Given the description of an element on the screen output the (x, y) to click on. 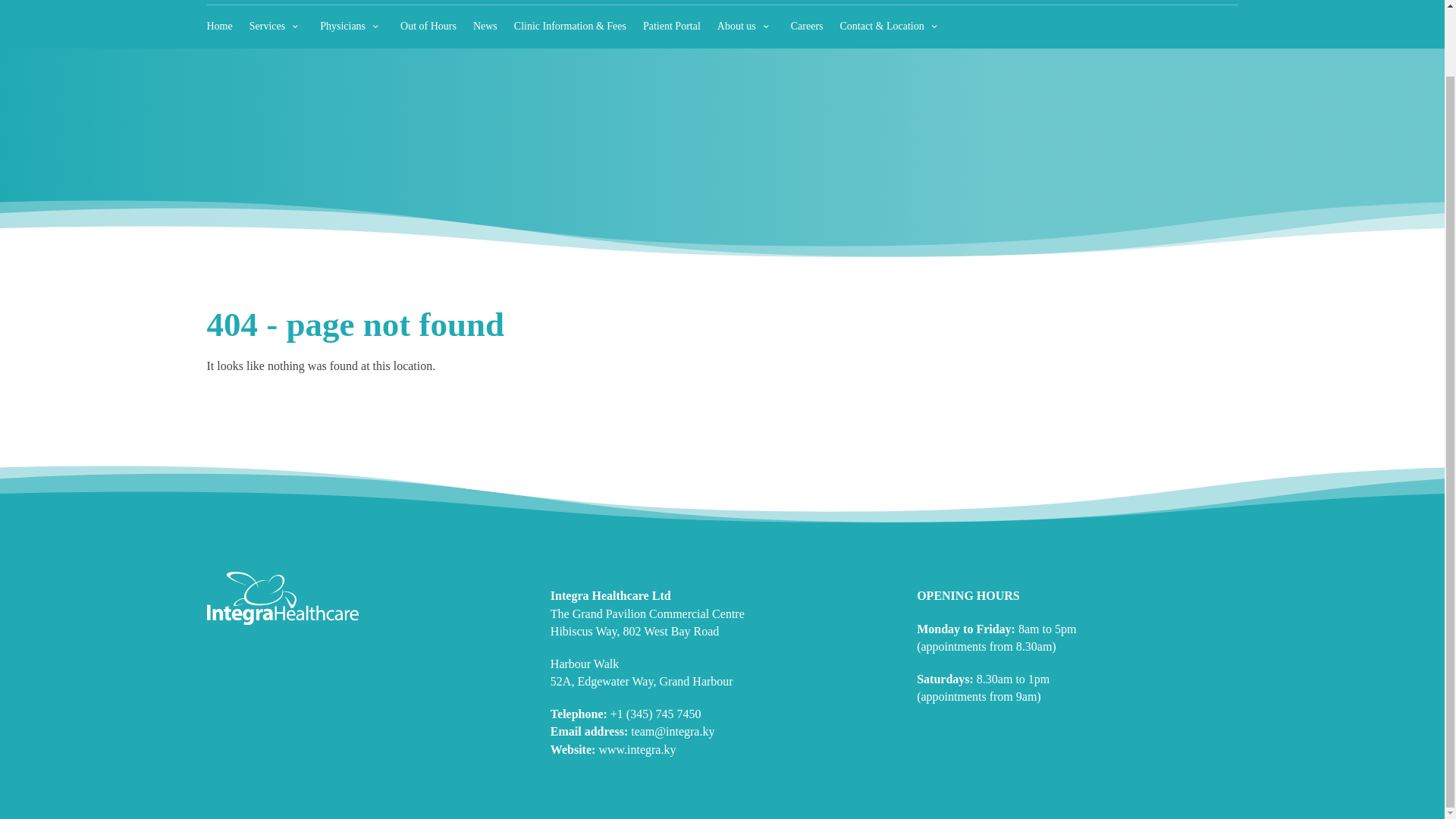
Home (218, 26)
Services (275, 26)
Physicians (352, 26)
